Given the description of an element on the screen output the (x, y) to click on. 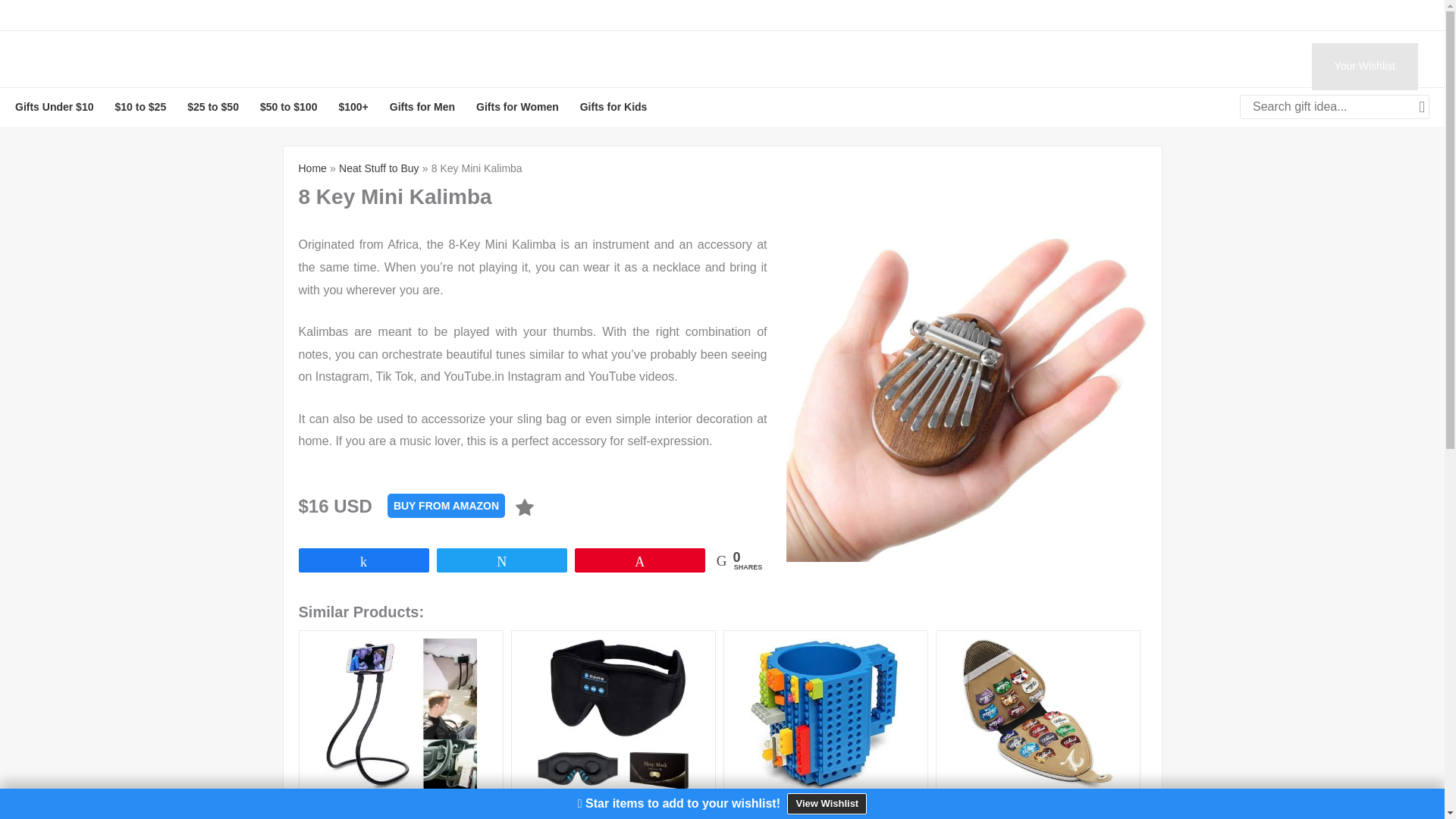
Flexible Cellphone Holder (400, 724)
Gadgets (1098, 66)
Guides (887, 66)
Facebook (42, 15)
Guitar Pick Holder Case (1038, 724)
TikTok (218, 15)
Gift Ideas (954, 66)
Electronics (1027, 66)
3D Sleeping Bluetooth Headphone Eye Mask (613, 724)
Twitter (167, 15)
